Given the description of an element on the screen output the (x, y) to click on. 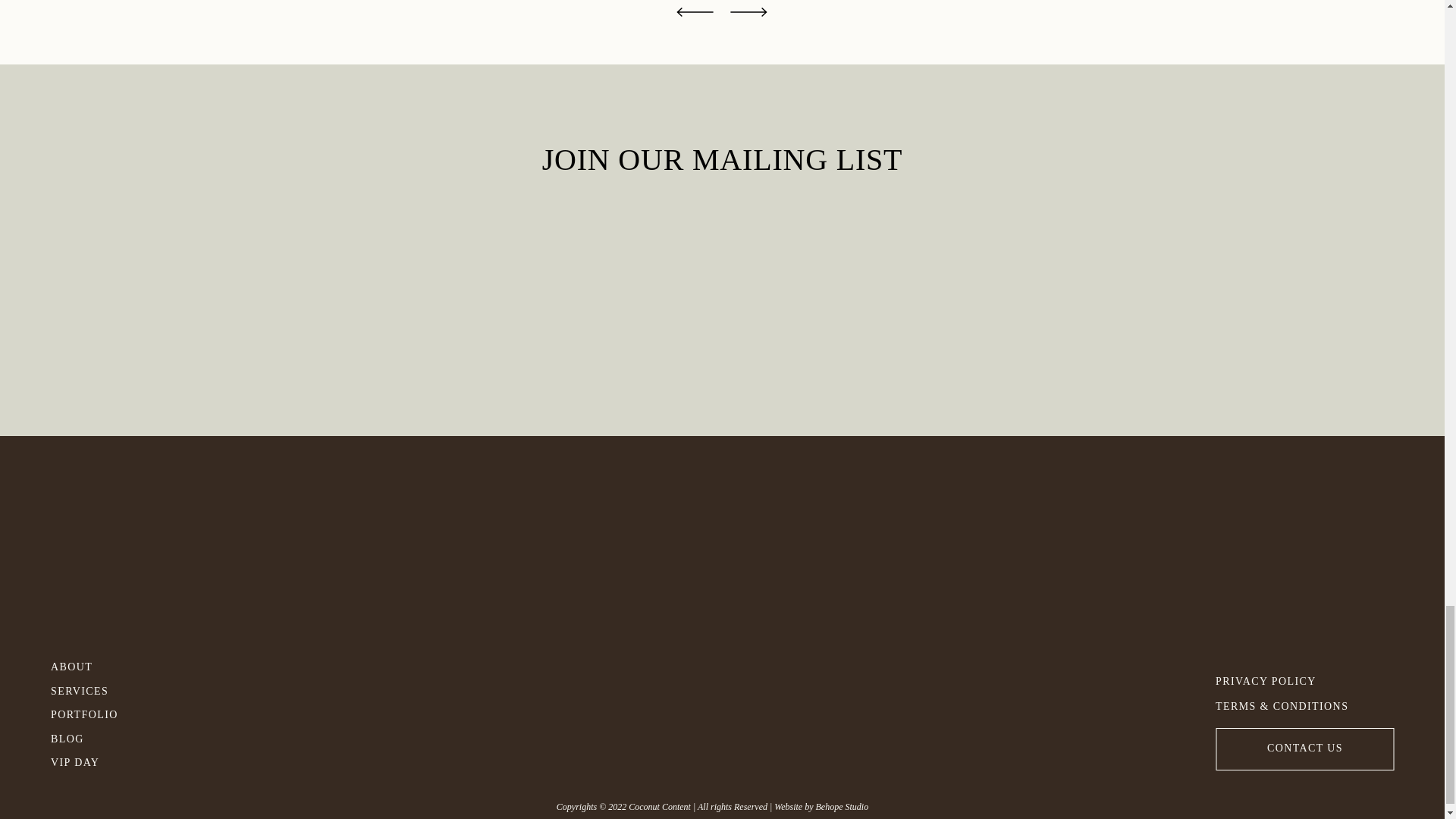
PRIVACY POLICY (1280, 678)
VIP DAY (98, 759)
ABOUT (73, 664)
Good Copy Is Your Most Powerful Tool (749, 24)
CONTACT US (1304, 745)
BLOG (98, 736)
SERVICES (98, 688)
PORTFOLIO (98, 712)
